Given the description of an element on the screen output the (x, y) to click on. 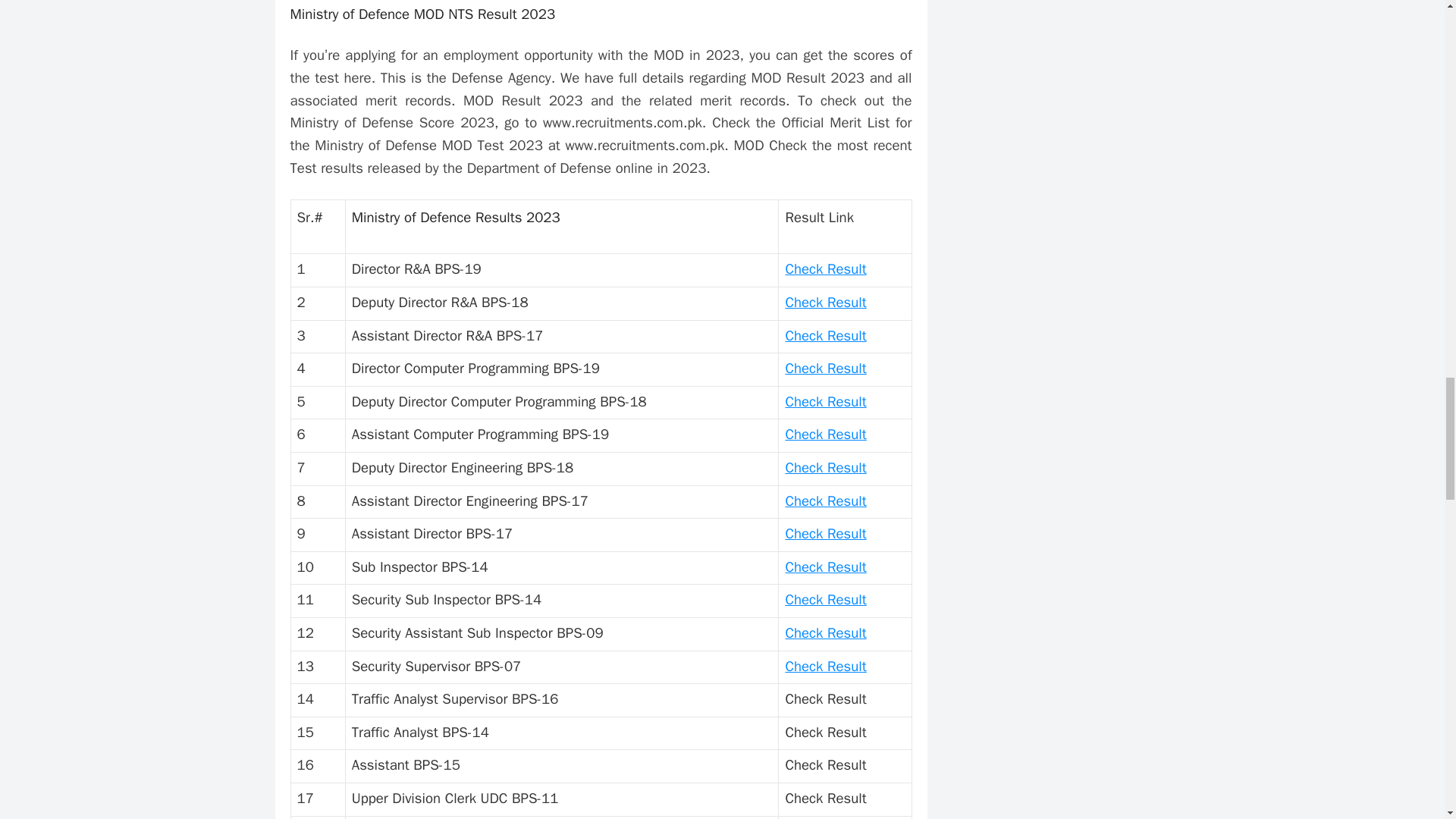
Check Result (825, 633)
Check Result (825, 566)
Check Result (825, 269)
Check Result (825, 467)
Check Result (825, 335)
Check Result (825, 302)
Check Result (825, 434)
Check Result (825, 666)
Check Result (825, 501)
Check Result (825, 599)
